Given the description of an element on the screen output the (x, y) to click on. 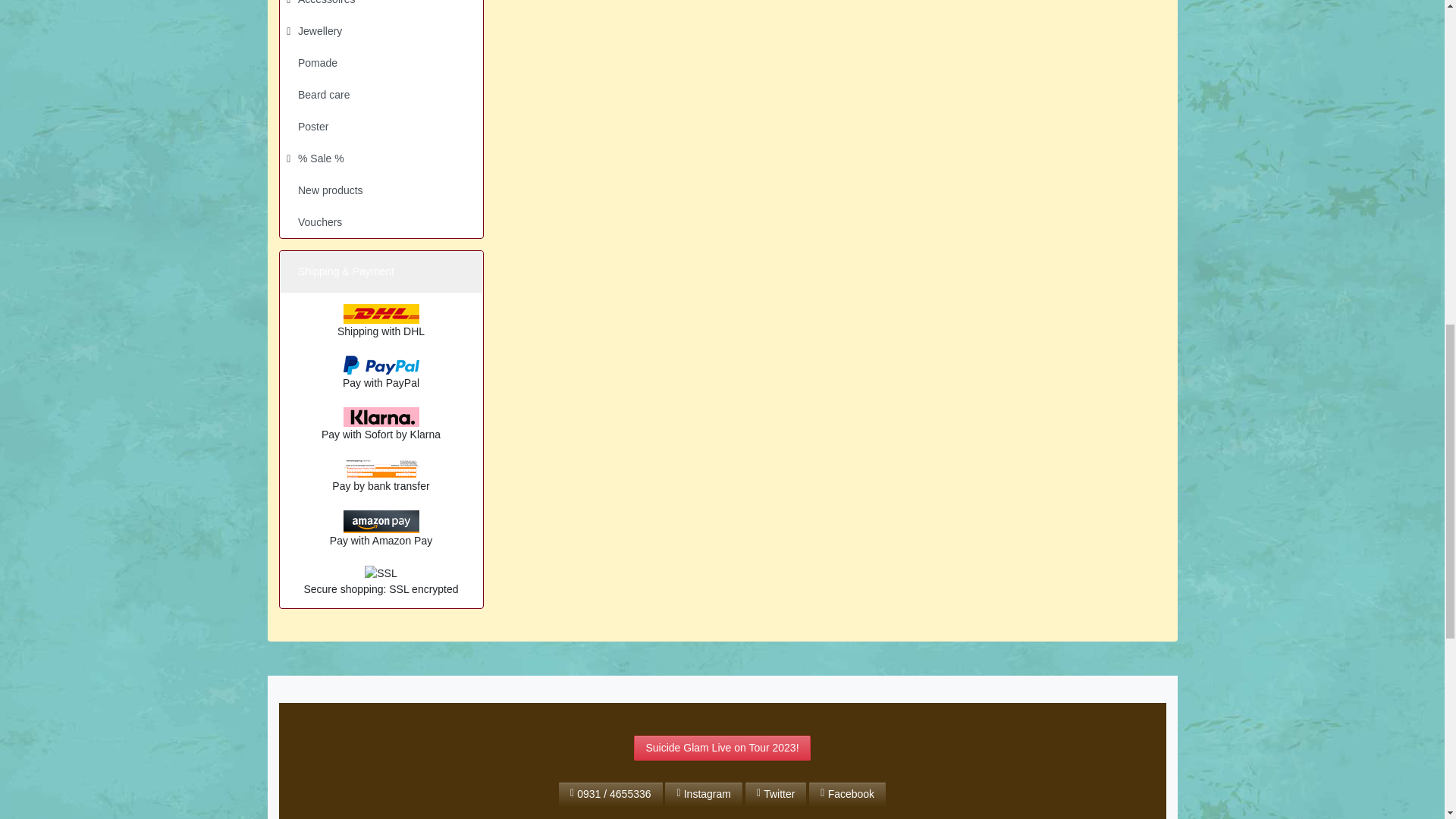
Suicide Glam Live on Tour 2023! (721, 748)
